Given the description of an element on the screen output the (x, y) to click on. 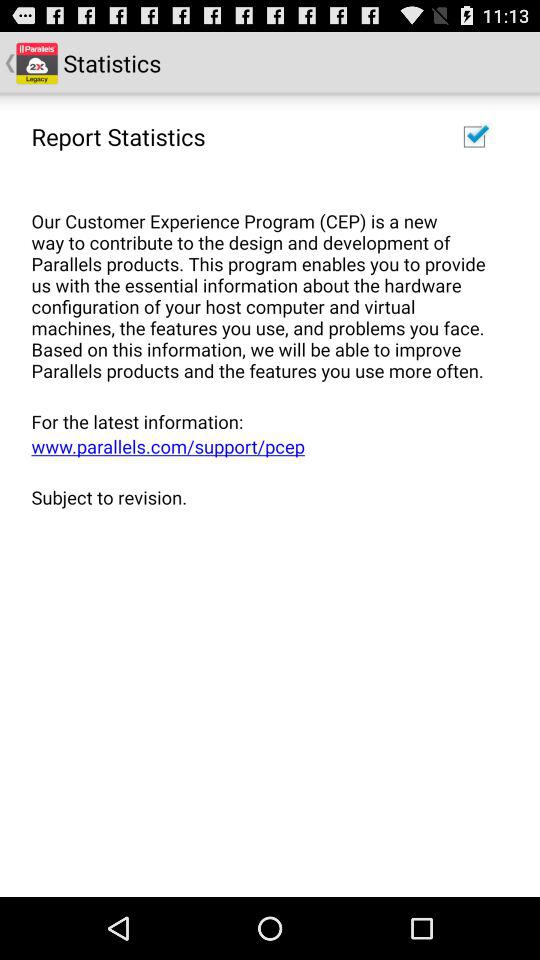
turn on for the latest app (263, 421)
